Given the description of an element on the screen output the (x, y) to click on. 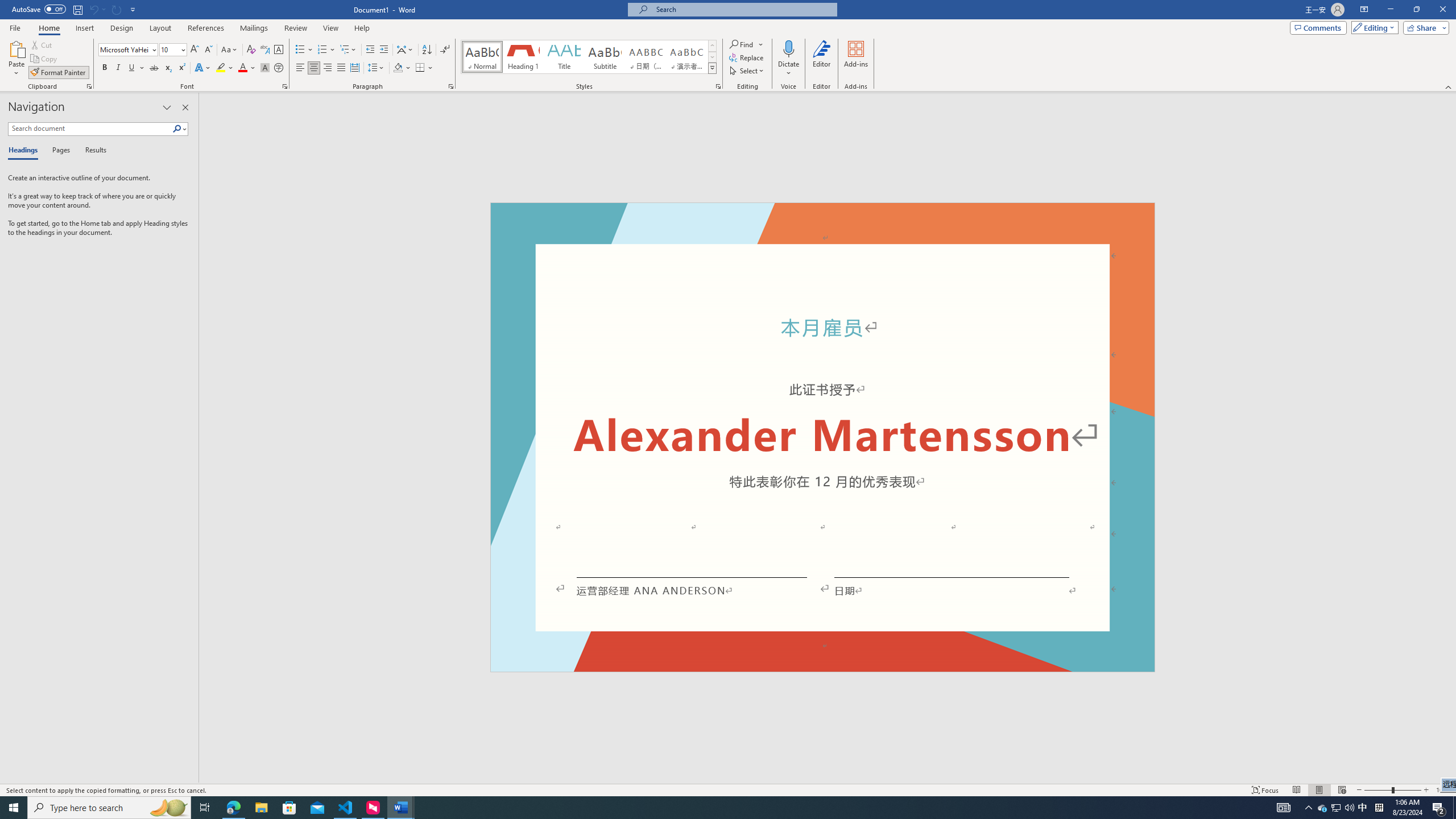
Underline (136, 67)
Design (122, 28)
Zoom 104% (1443, 790)
Styles... (717, 85)
Align Left (300, 67)
Row Down (711, 56)
Font (124, 49)
Borders (419, 67)
Row up (711, 45)
Print Layout (1318, 790)
Ribbon Display Options (1364, 9)
AutoSave (38, 9)
Bullets (304, 49)
Can't Repeat (117, 9)
Copy (45, 58)
